Given the description of an element on the screen output the (x, y) to click on. 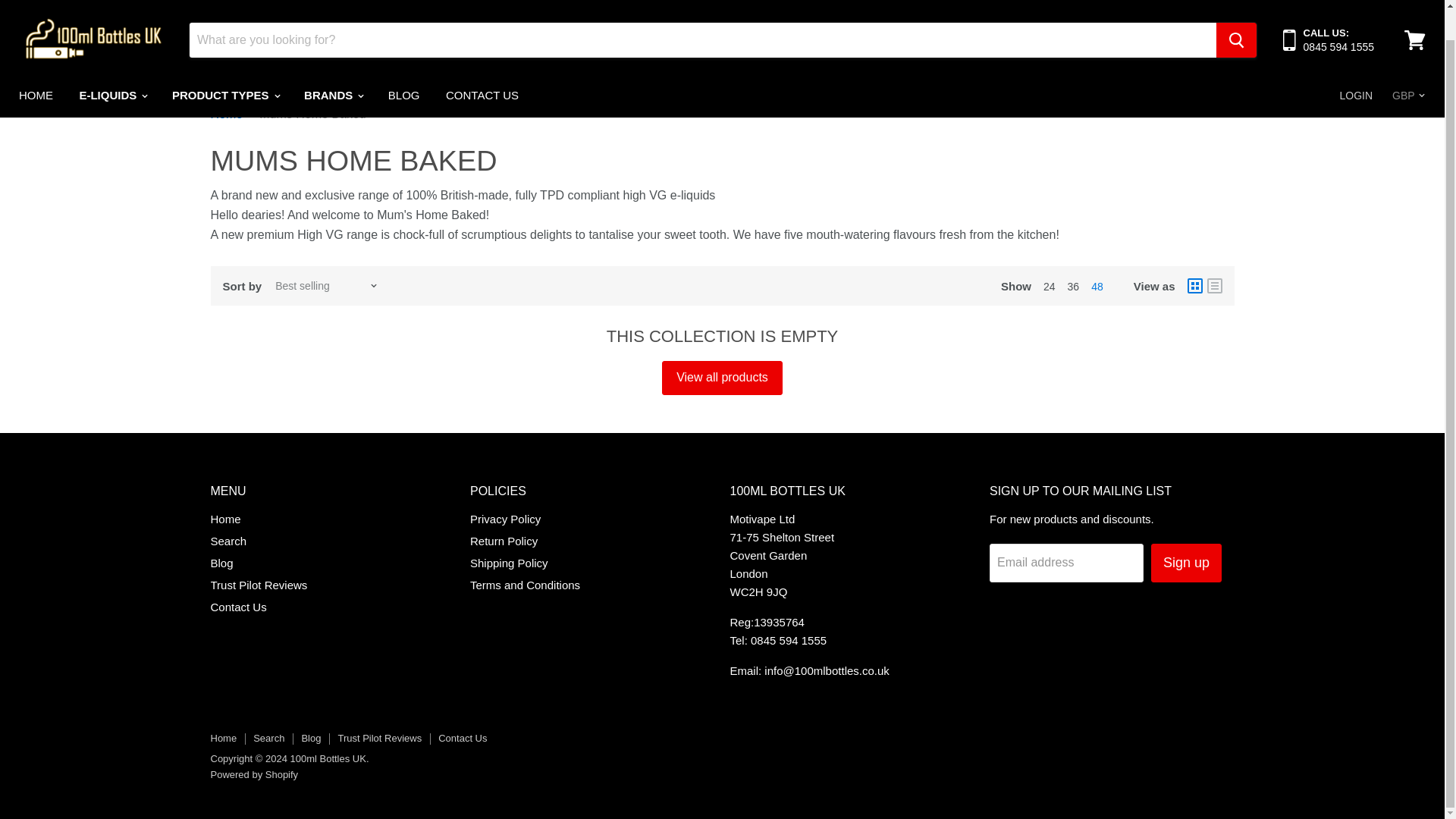
HOME (35, 64)
E-LIQUIDS (111, 64)
View cart (1414, 13)
